Given the description of an element on the screen output the (x, y) to click on. 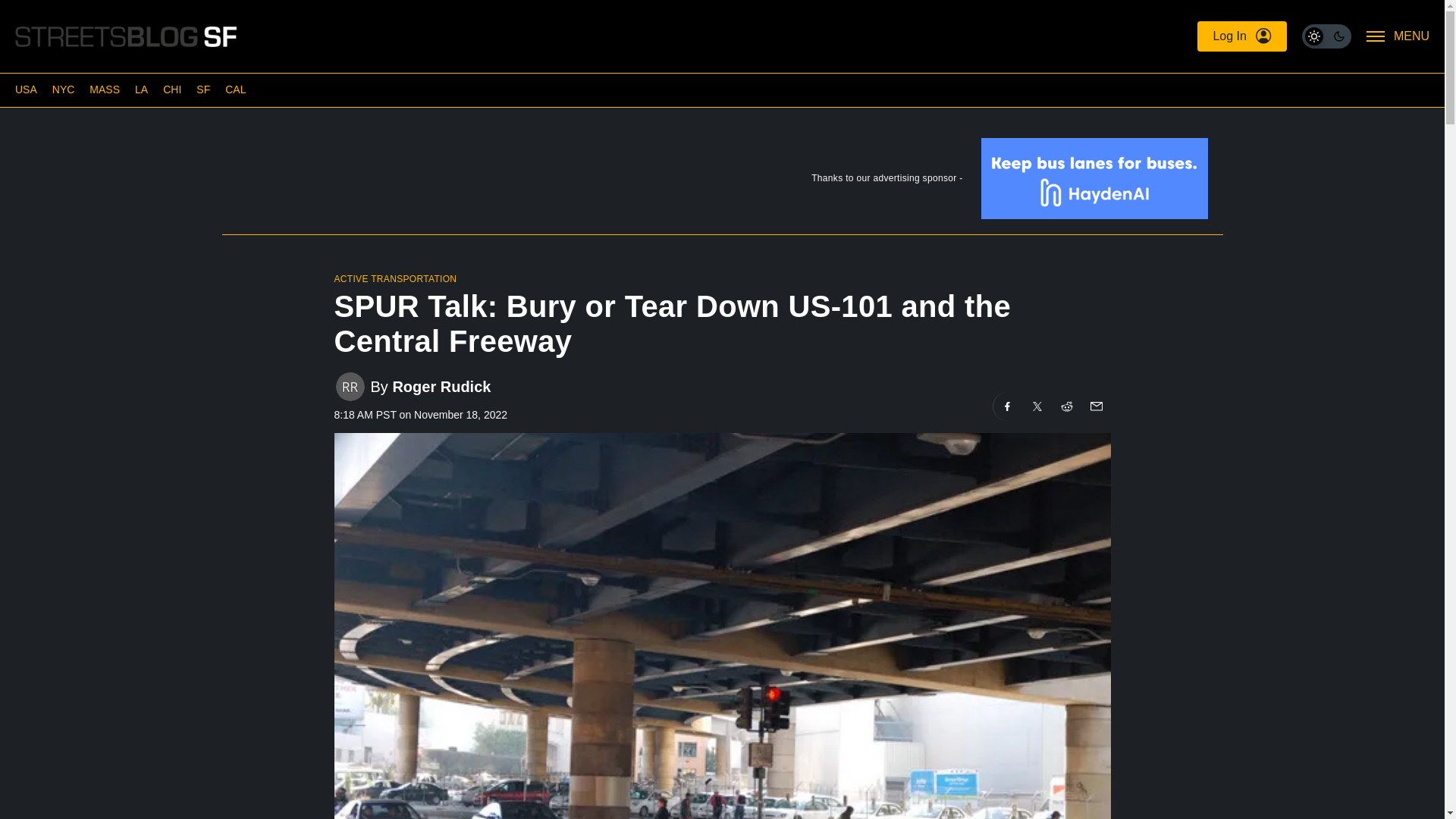
MENU (1398, 36)
USA (25, 89)
Share on Email (1095, 406)
Roger Rudick (440, 386)
Share on Reddit (1066, 406)
Thanks to our advertising sponsor - (721, 181)
CAL (235, 89)
Log In (1240, 36)
Share on Facebook (1007, 406)
ACTIVE TRANSPORTATION (395, 278)
CHI (171, 89)
MASS (103, 89)
NYC (63, 89)
